Given the description of an element on the screen output the (x, y) to click on. 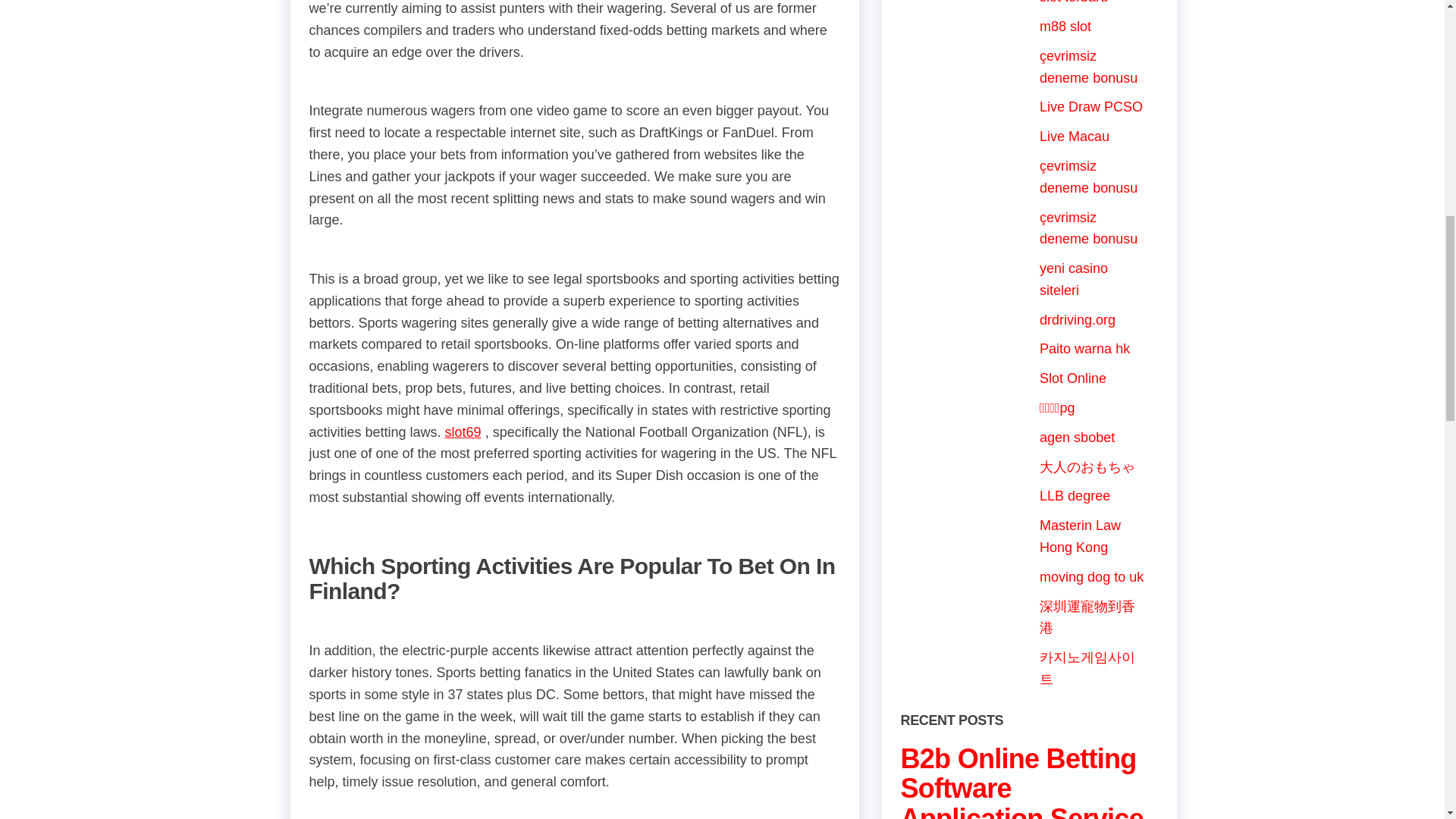
Live Macau (1074, 136)
Paito warna hk (1084, 348)
drdriving.org (1077, 319)
yeni casino siteleri (1073, 279)
m88 slot (1064, 26)
LLB degree (1074, 495)
slot69 (463, 432)
slot terbaru (1073, 2)
agen sbobet (1077, 437)
Slot Online (1072, 378)
Live Draw PCSO (1090, 106)
